Given the description of an element on the screen output the (x, y) to click on. 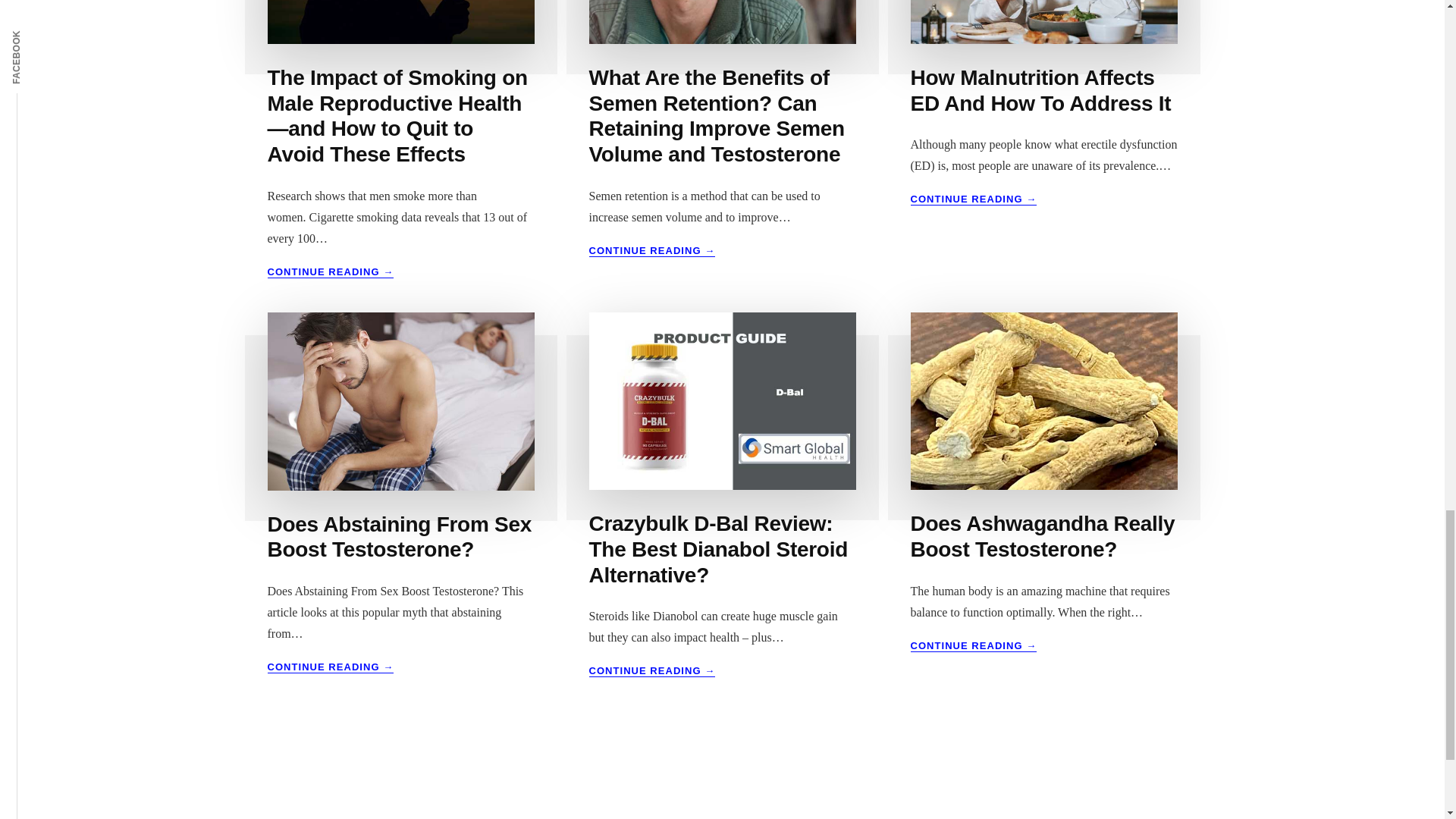
Does Ashwagandha Really Boost Testosterone? (1042, 536)
Does Abstaining From Sex Boost Testosterone? (398, 536)
How Malnutrition Affects ED And How To Address It (973, 645)
